Given the description of an element on the screen output the (x, y) to click on. 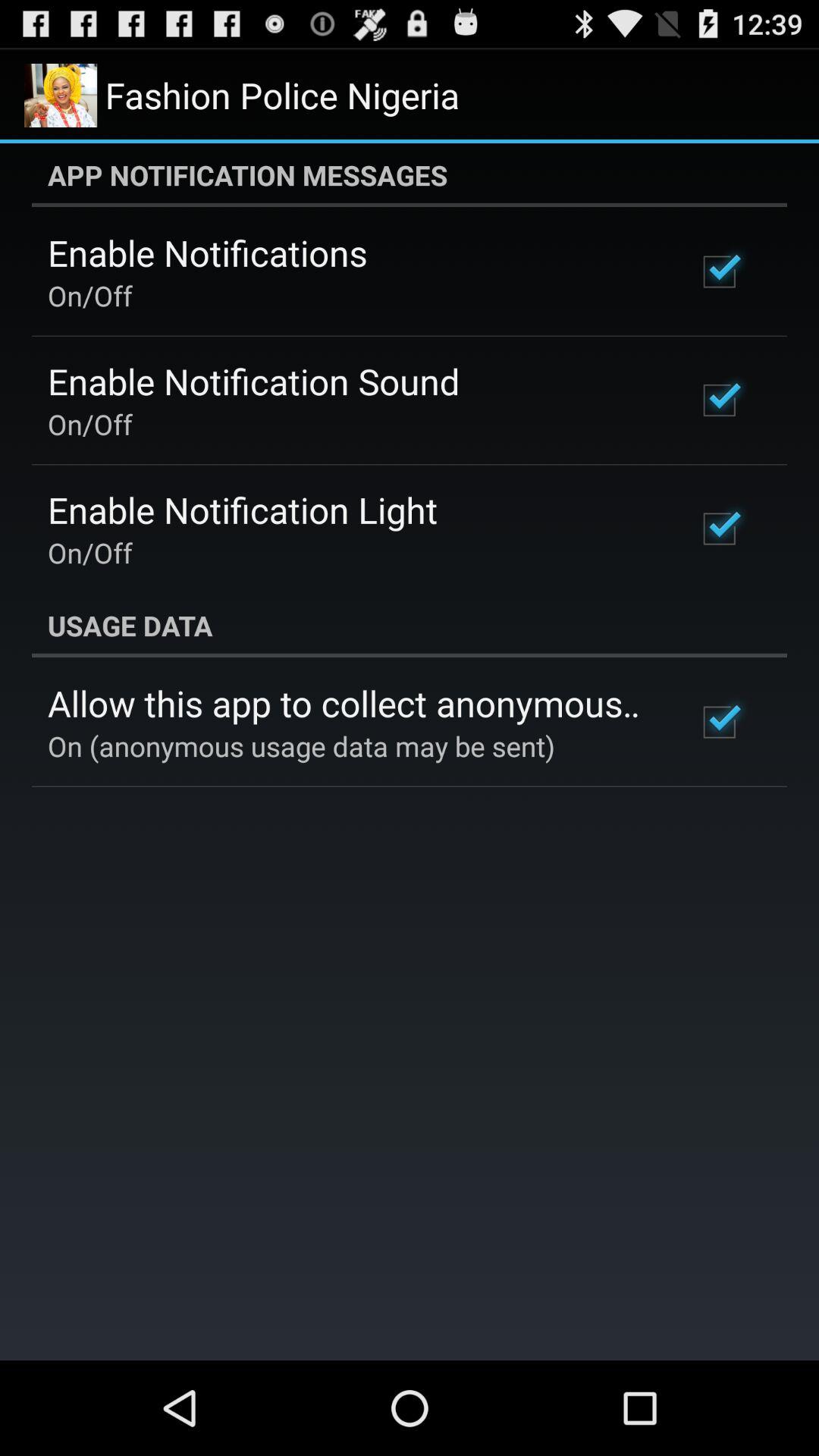
jump to allow this app item (351, 703)
